Given the description of an element on the screen output the (x, y) to click on. 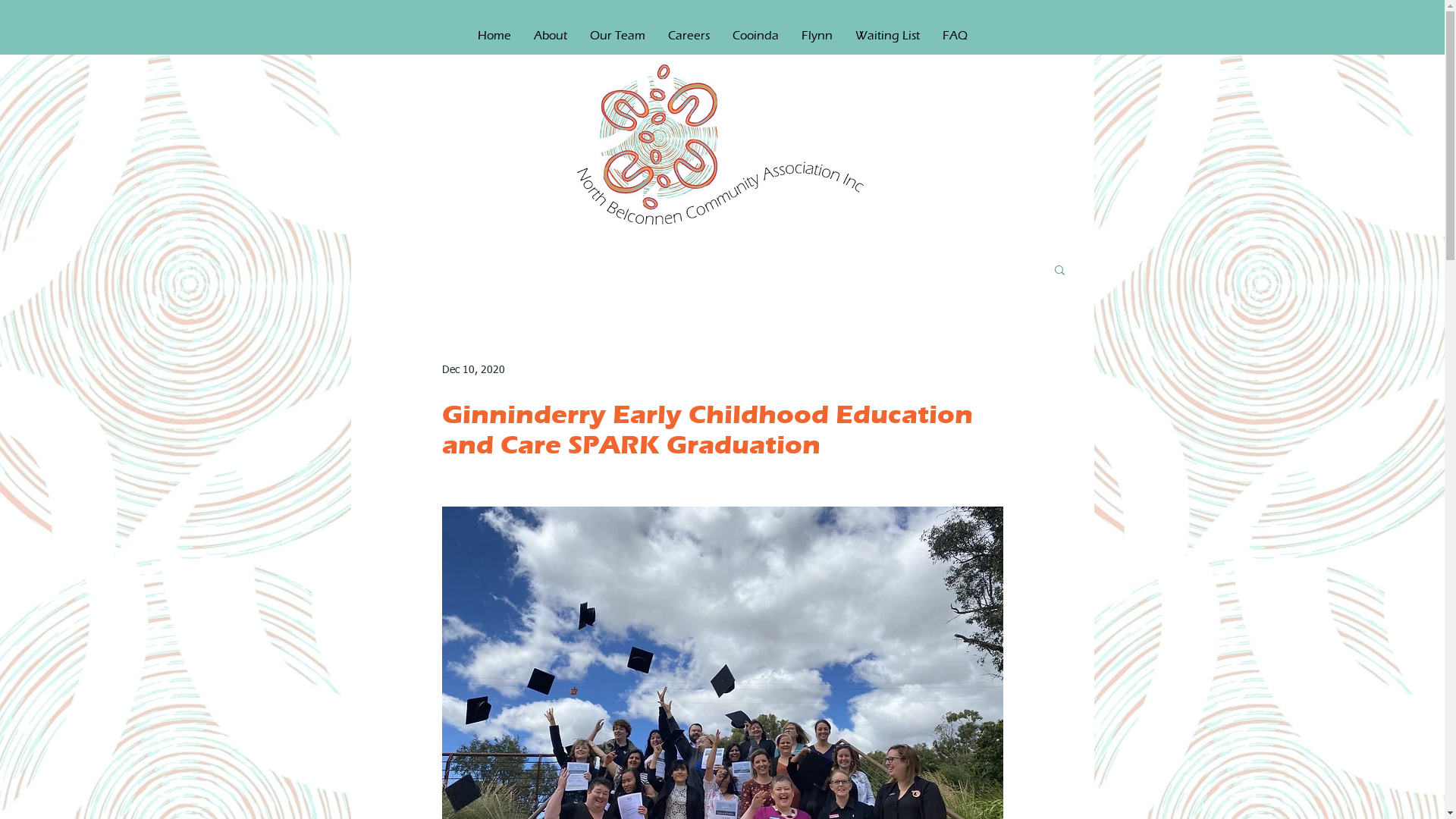
About Element type: text (549, 35)
Waiting List Element type: text (886, 35)
Home Element type: text (493, 35)
Our Team Element type: text (616, 35)
Cooinda Element type: text (754, 35)
Flynn Element type: text (817, 35)
Careers Element type: text (688, 35)
FAQ Element type: text (955, 35)
